Given the description of an element on the screen output the (x, y) to click on. 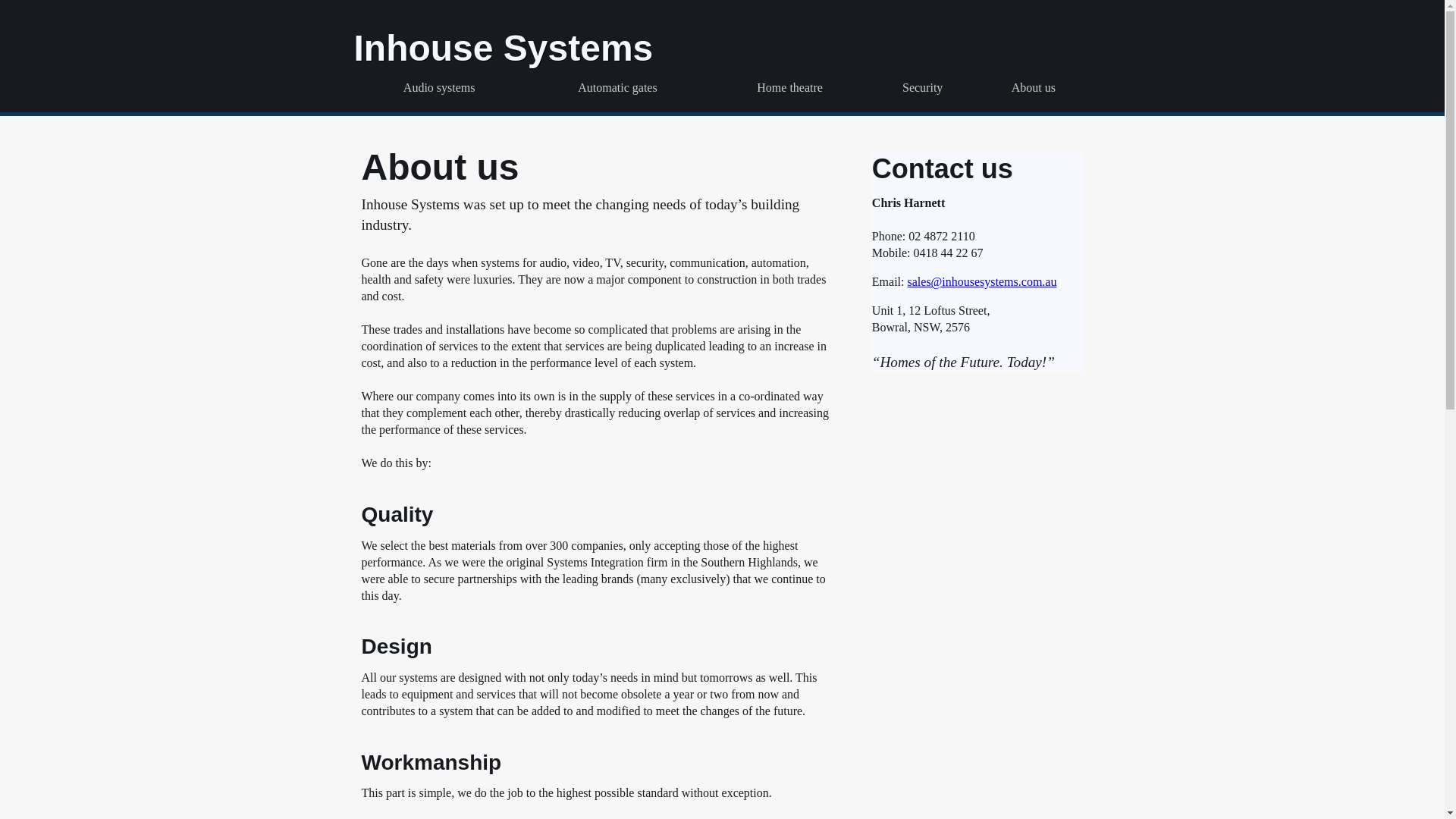
Audio systems Element type: text (438, 87)
sales@inhousesystems.com.au Element type: text (981, 281)
About us Element type: text (1032, 87)
Security Element type: text (922, 87)
Inhouse Systems Element type: text (502, 47)
Automatic gates Element type: text (617, 87)
Home theatre Element type: text (789, 87)
